Given the description of an element on the screen output the (x, y) to click on. 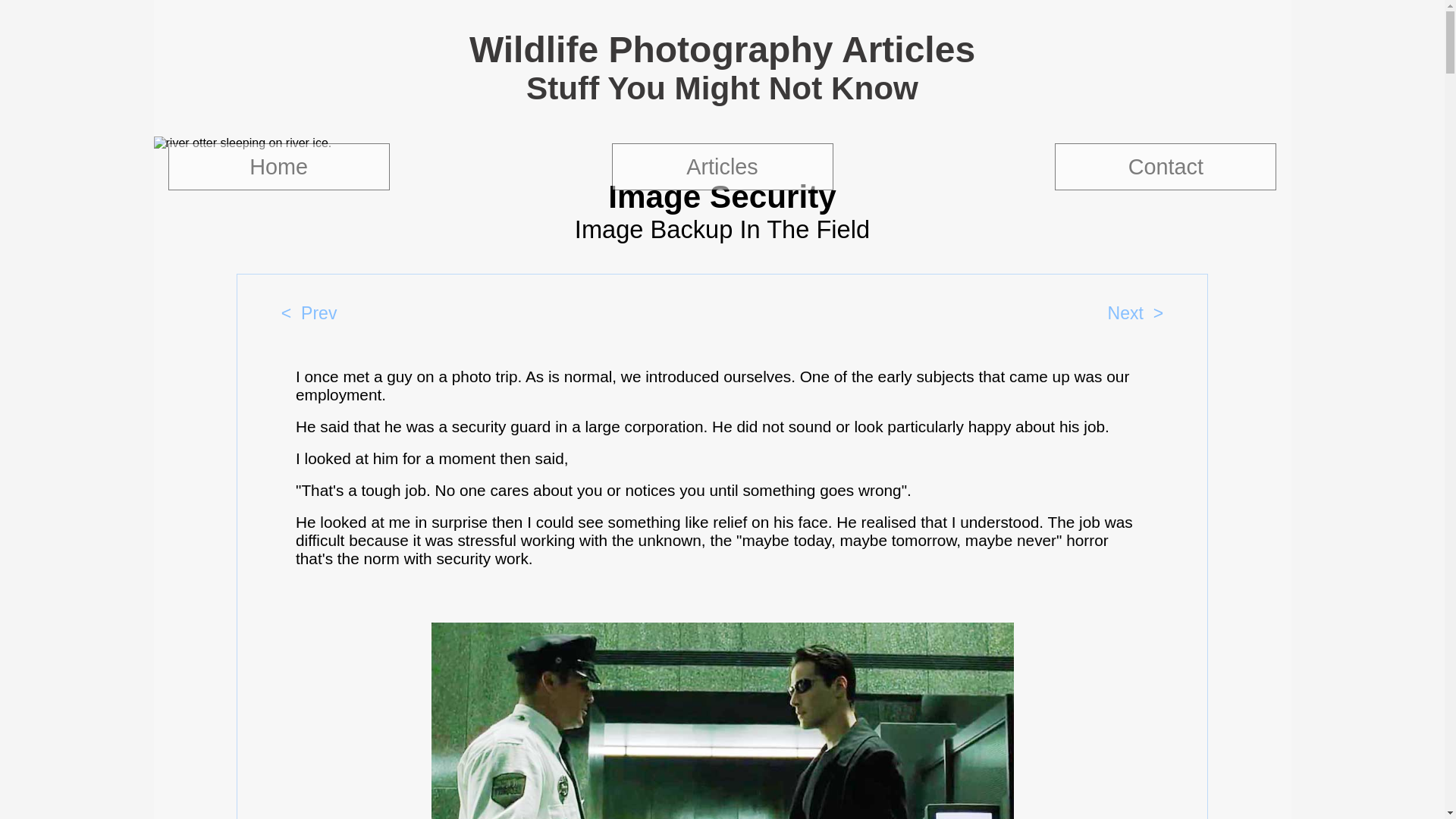
Home (279, 166)
Articles (721, 166)
Contact (1165, 166)
